Given the description of an element on the screen output the (x, y) to click on. 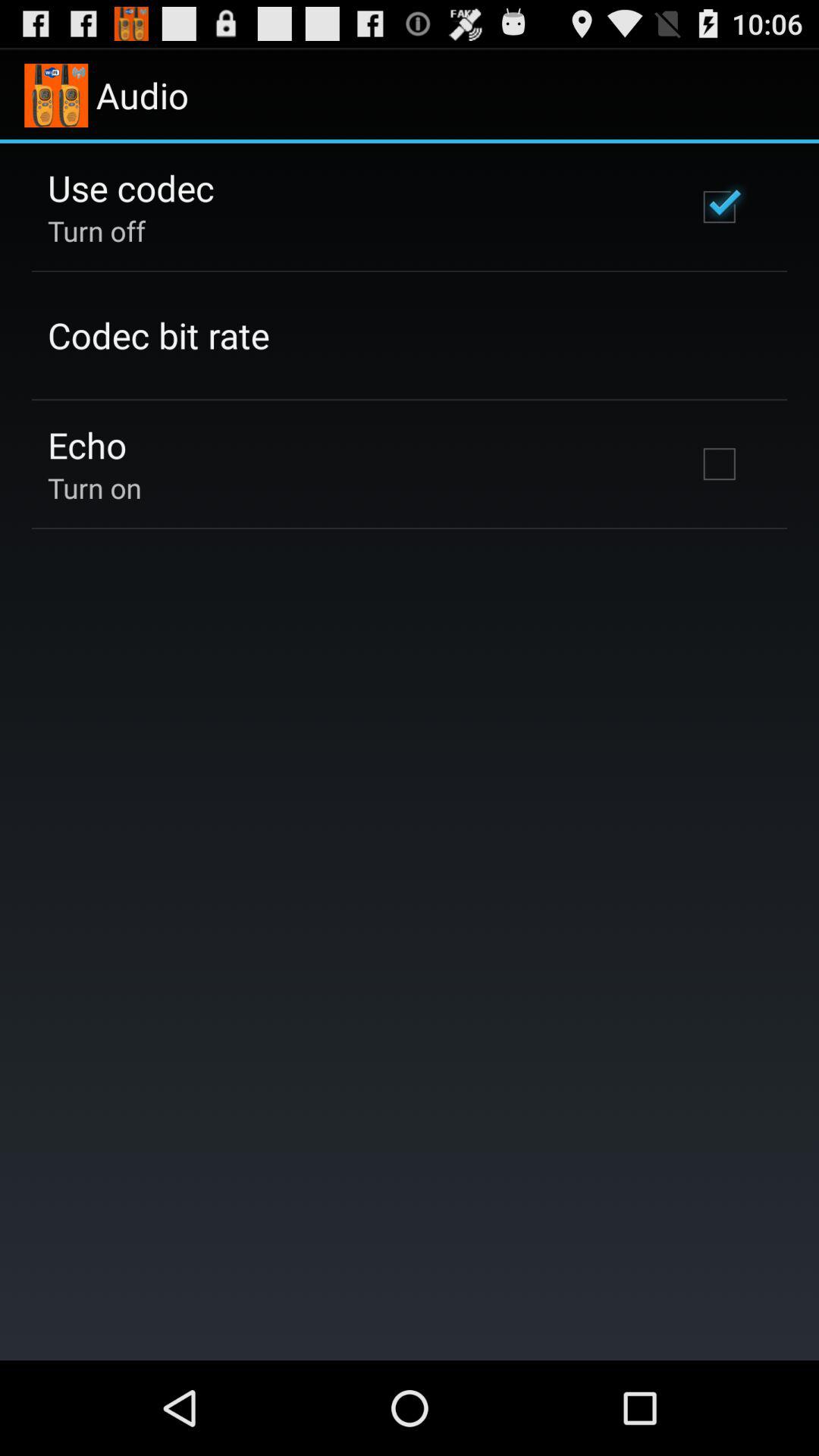
turn off turn off app (96, 230)
